Given the description of an element on the screen output the (x, y) to click on. 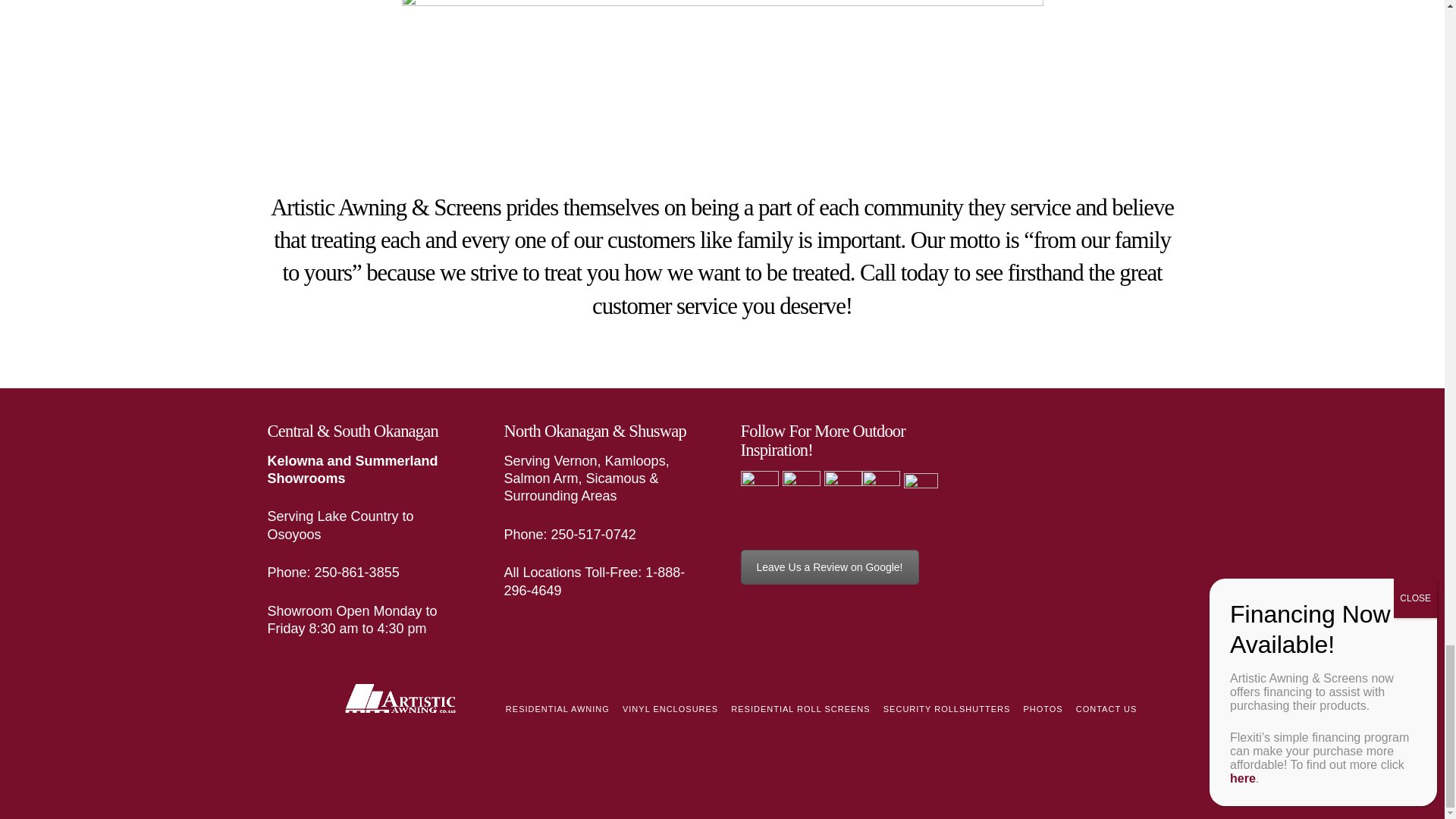
Commercial Awnings (828, 566)
